Given the description of an element on the screen output the (x, y) to click on. 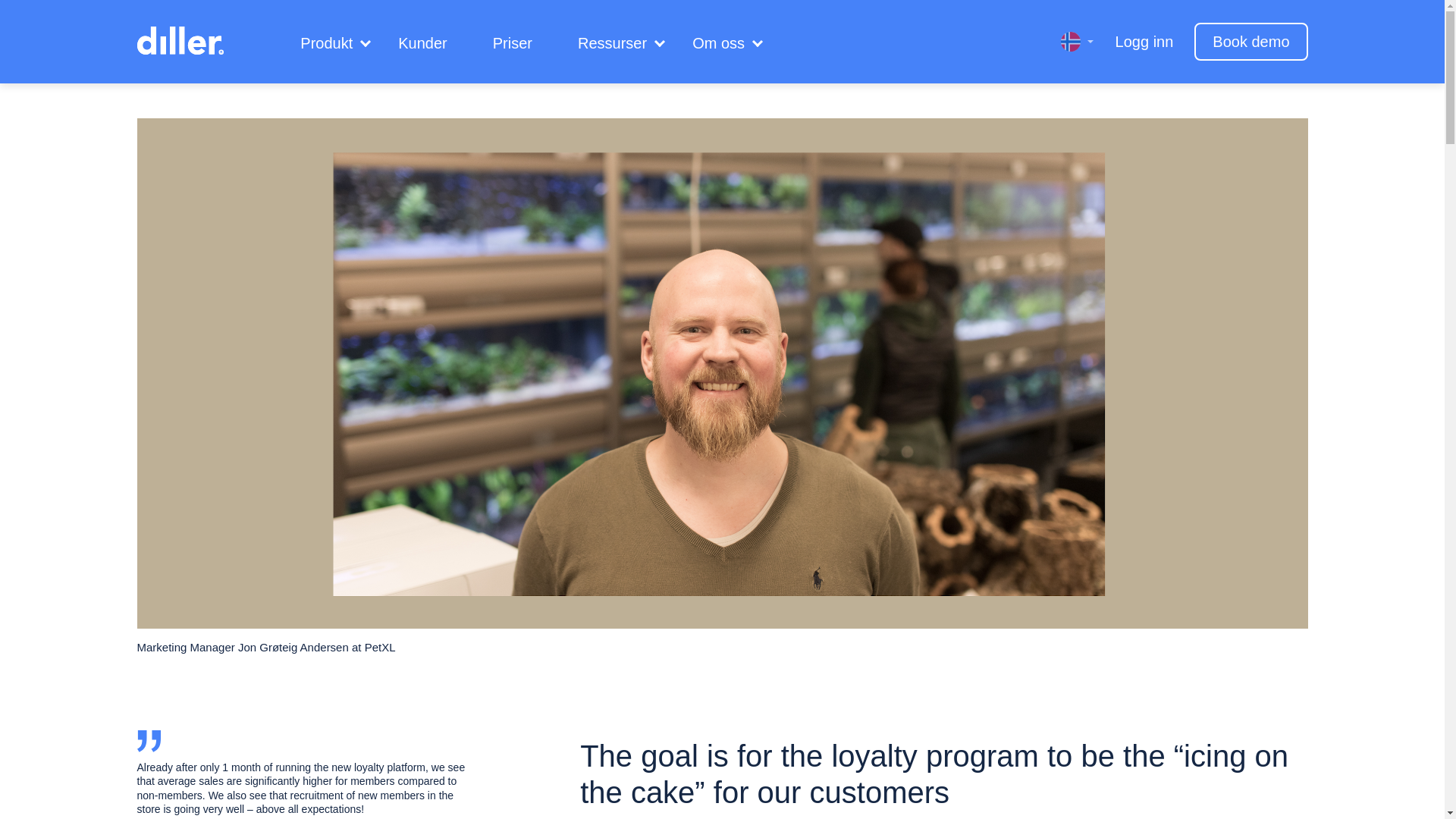
Kunder (422, 42)
Om oss (718, 42)
Logg inn (1144, 41)
Priser (512, 42)
Produkt (326, 42)
Ressurser (611, 42)
Book demo (1250, 41)
